Given the description of an element on the screen output the (x, y) to click on. 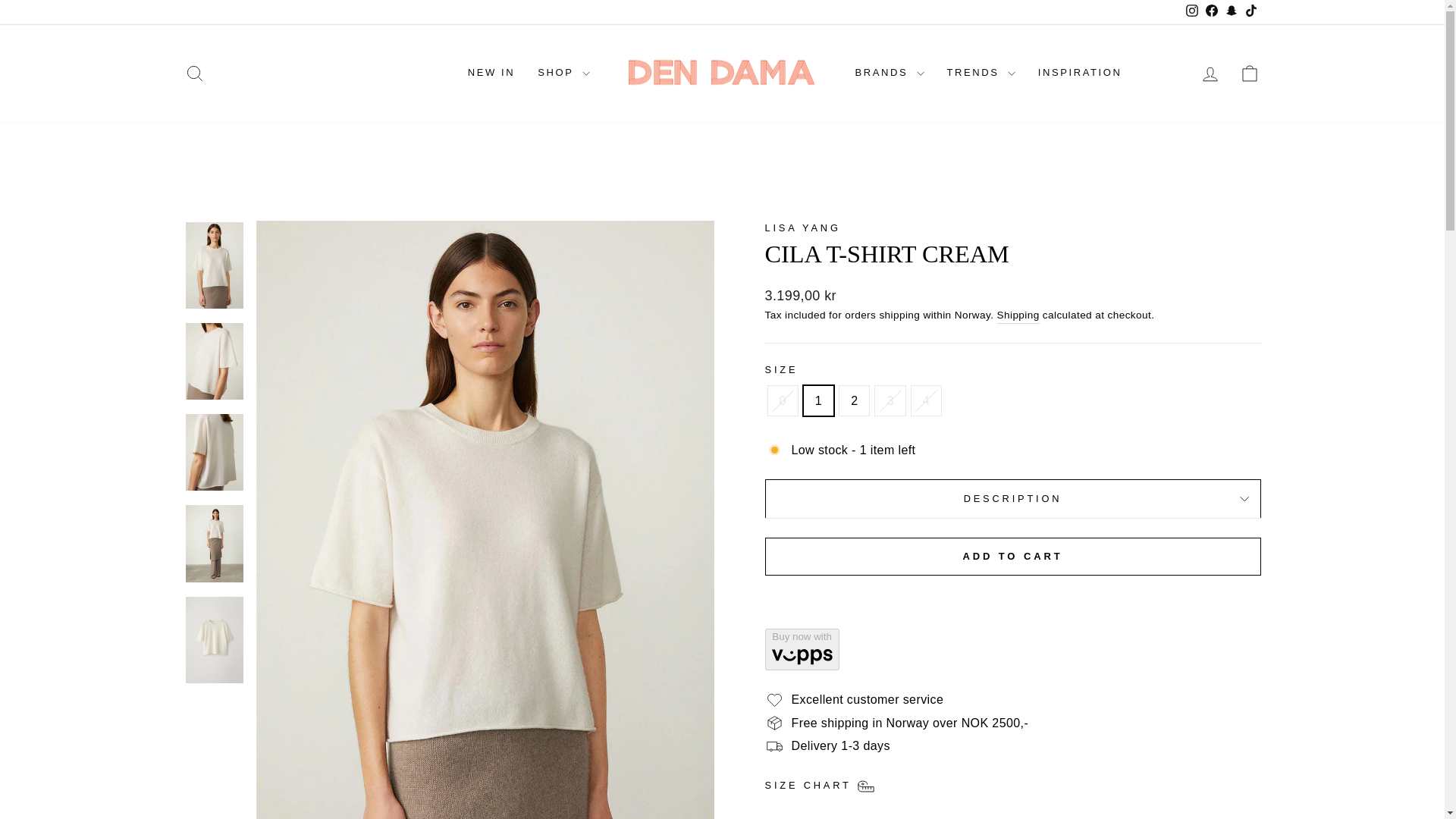
ICON-BAG-MINIMAL (1249, 73)
ACCOUNT (1210, 74)
ICON-SEARCH (194, 73)
instagram (1192, 10)
